Given the description of an element on the screen output the (x, y) to click on. 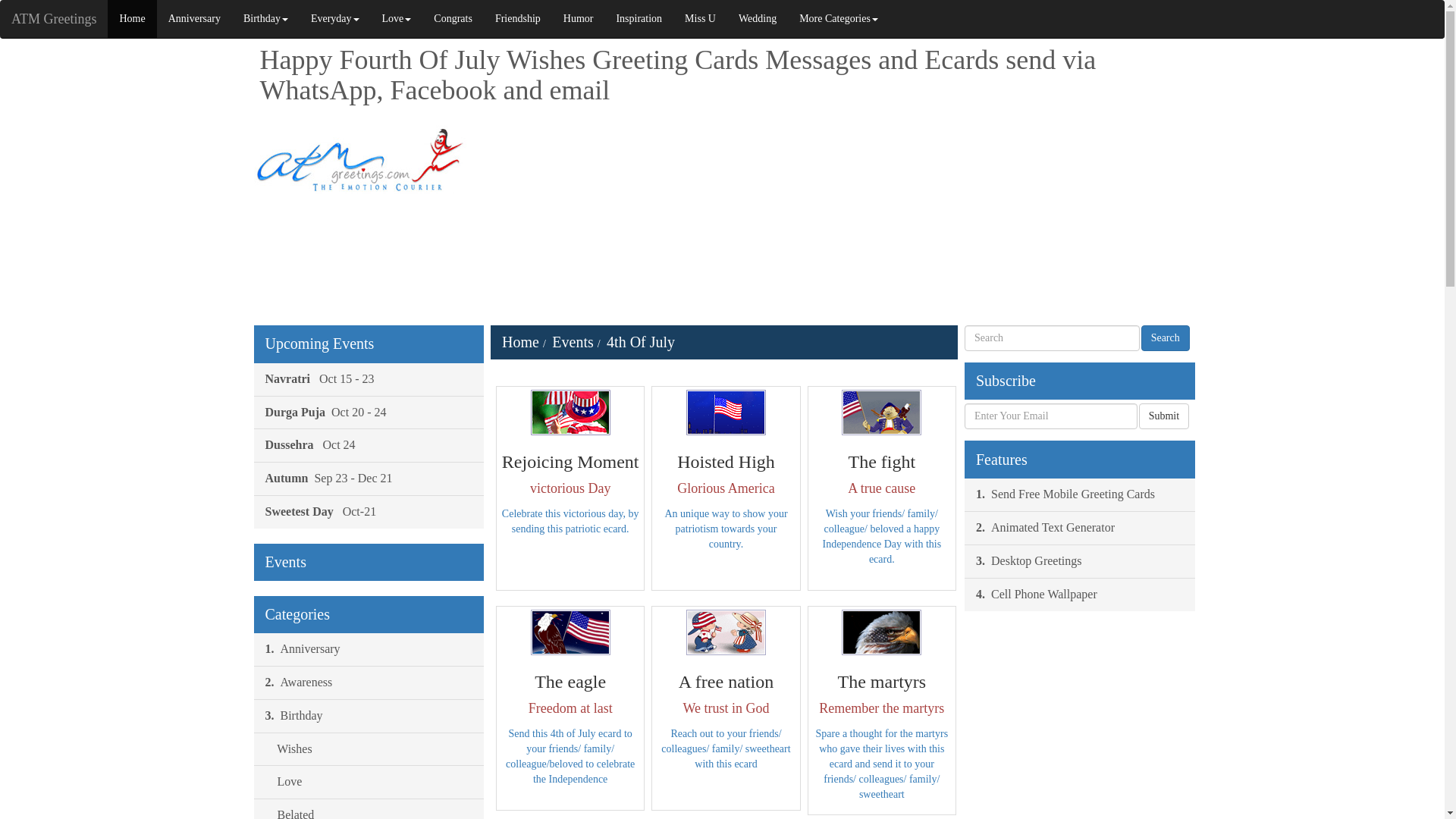
Remember the martyrs (881, 632)
A true cause (881, 411)
We trust in God (725, 632)
Durga Puja  (368, 412)
Birthday (265, 18)
Sweetest Day (368, 511)
Navratri (368, 379)
Anniversary (194, 18)
Glorious America (725, 411)
Search (1165, 338)
